Given the description of an element on the screen output the (x, y) to click on. 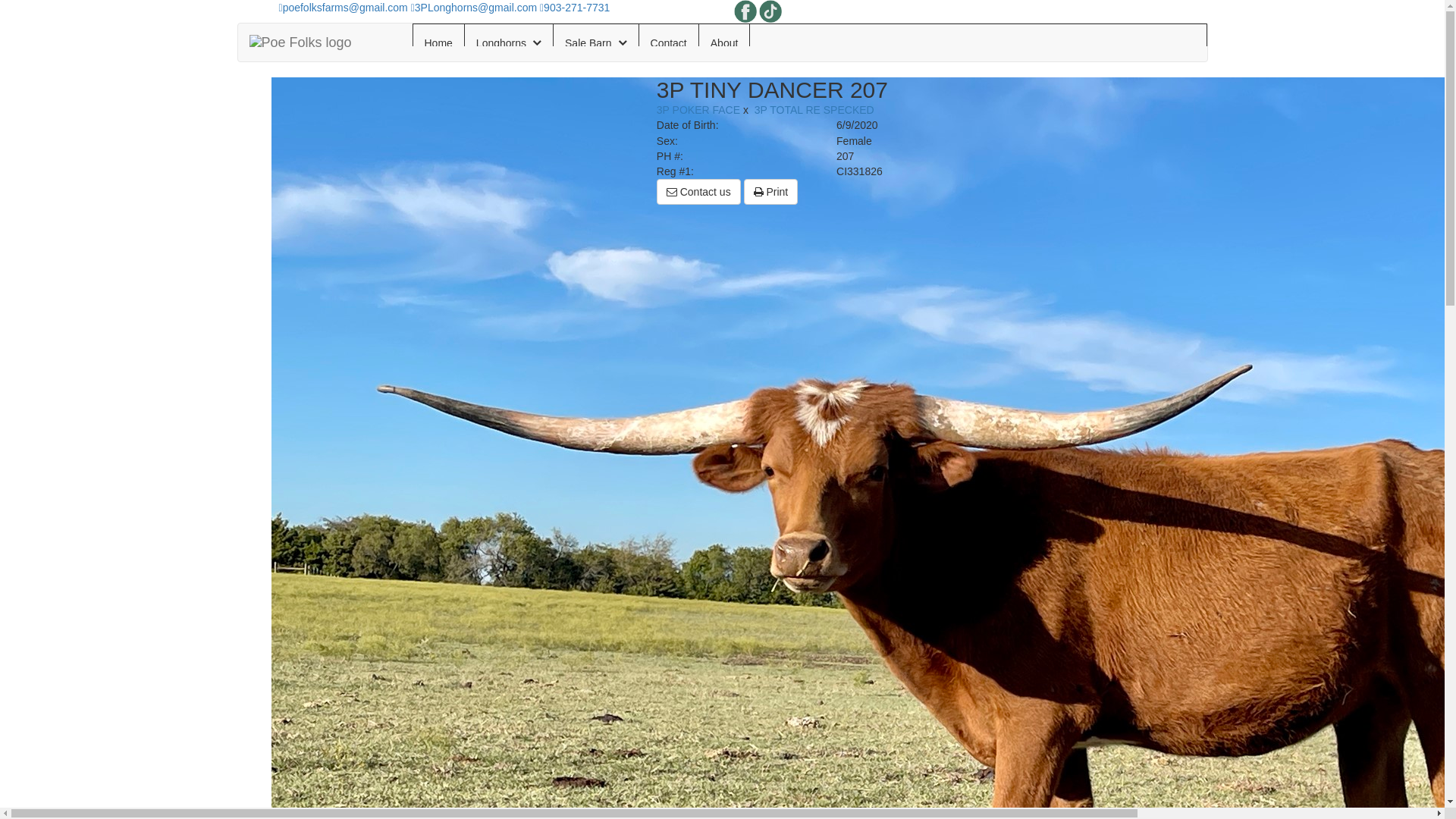
Sale Barn Element type: text (595, 42)
903-271-7731 Element type: text (574, 7)
poefolksfarms@gmail.com Element type: text (343, 7)
 Print Element type: text (770, 191)
3PLonghorns@gmail.com Element type: text (473, 7)
3P POKER FACE Element type: text (698, 109)
Longhorns Element type: text (508, 42)
Home Element type: text (438, 42)
About Element type: text (724, 42)
Contact Element type: text (668, 42)
3P TOTAL RE SPECKED Element type: text (814, 109)
Contact us Element type: text (698, 191)
